Given the description of an element on the screen output the (x, y) to click on. 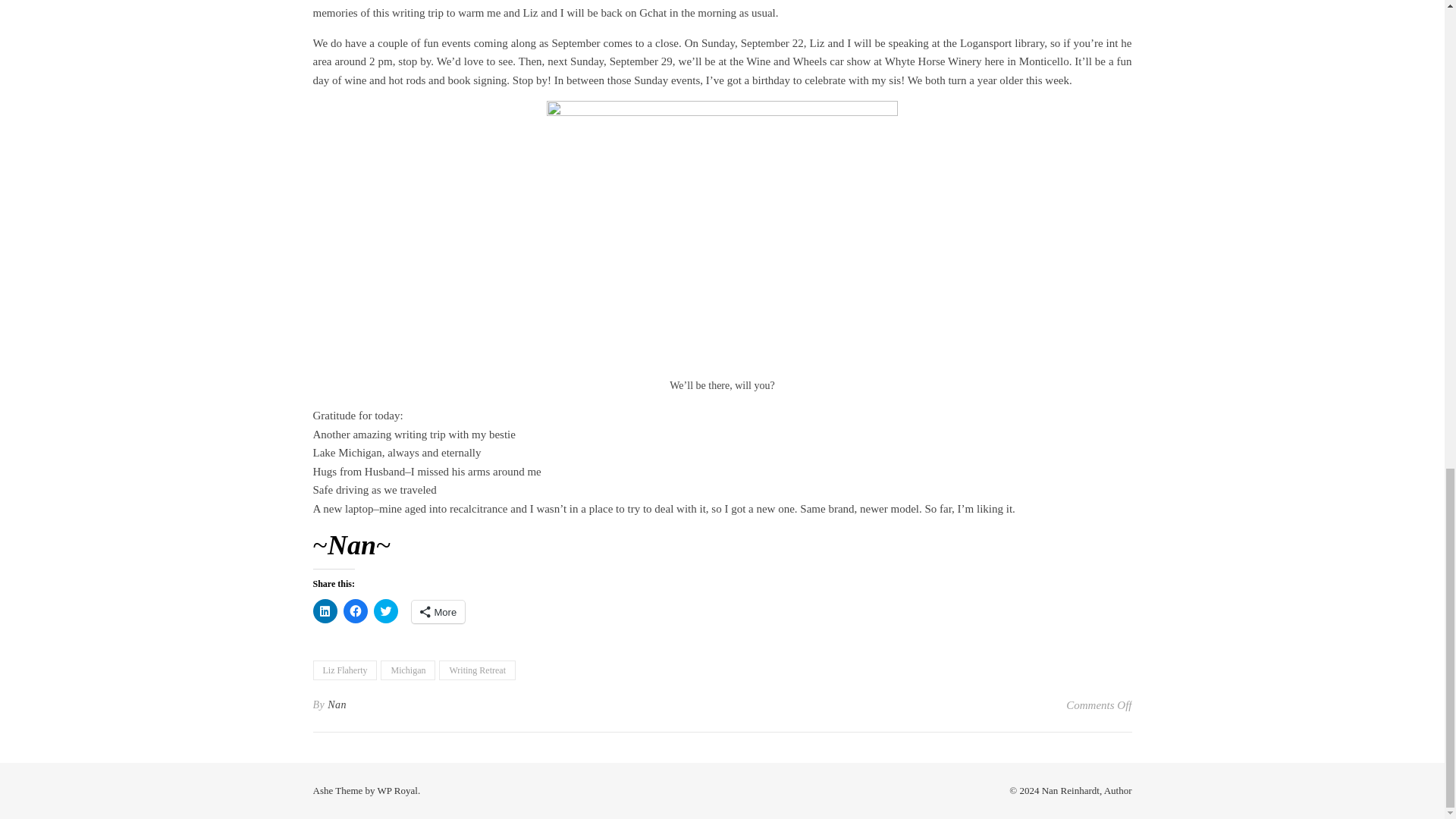
Click to share on Twitter (384, 610)
Click to share on LinkedIn (324, 610)
Click to share on Facebook (354, 610)
